Given the description of an element on the screen output the (x, y) to click on. 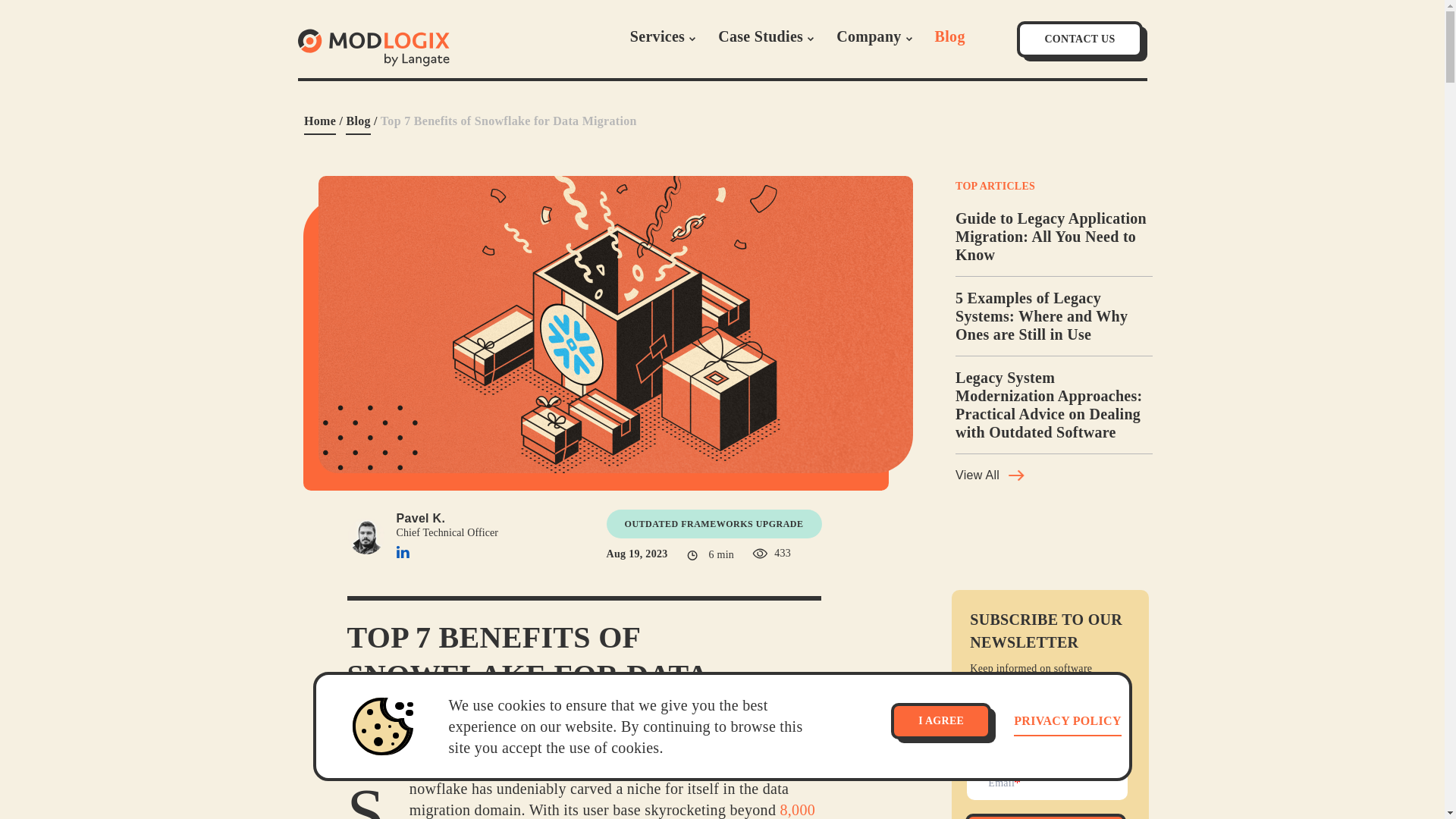
Chatbot (1383, 758)
Case Studies (765, 35)
Company (873, 36)
Services (662, 35)
